Given the description of an element on the screen output the (x, y) to click on. 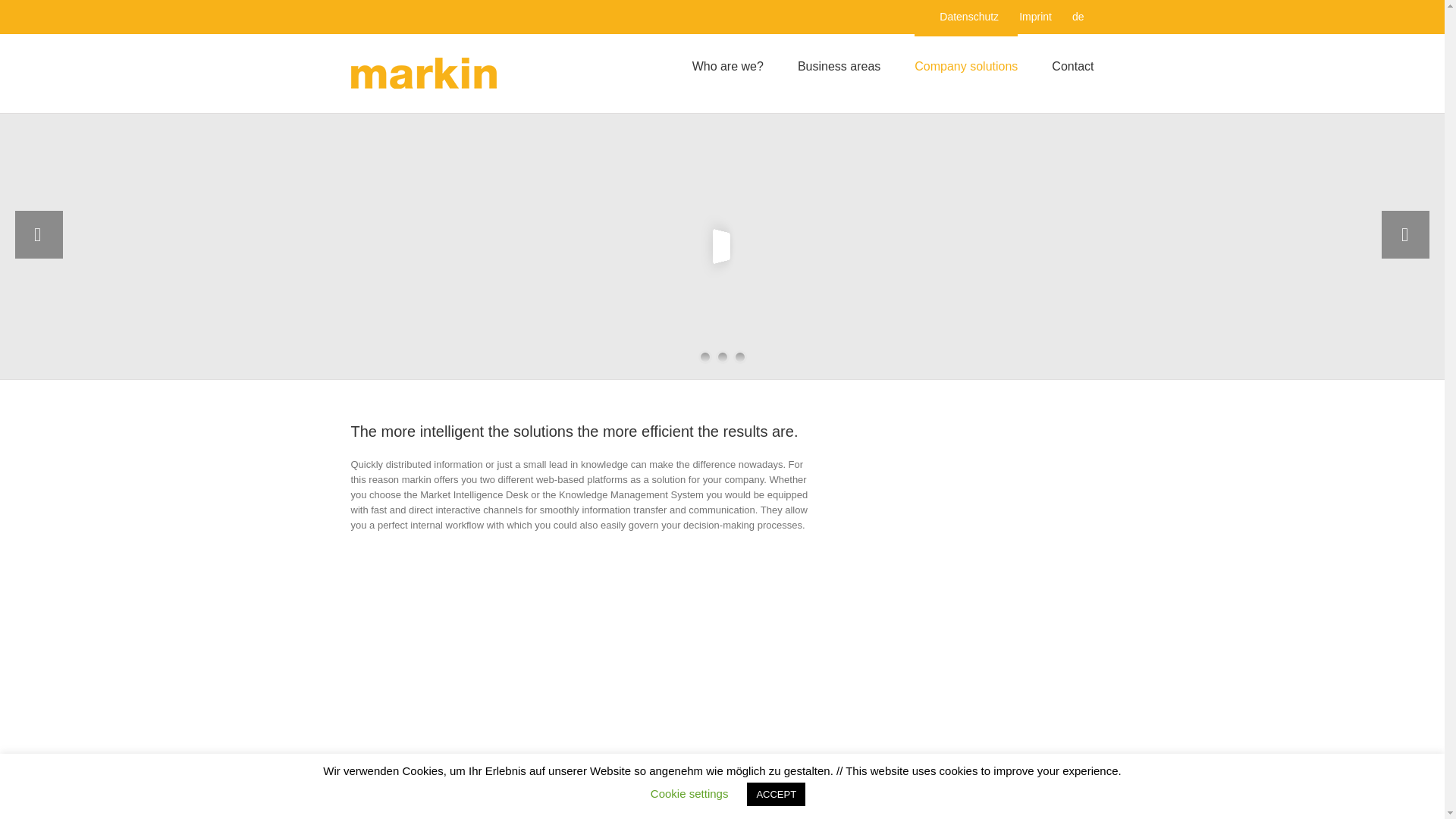
Company solutions (965, 65)
Datenschutz (969, 16)
Imprint (1035, 16)
Business areas (838, 65)
de (1078, 16)
Who are we? (727, 65)
